Given the description of an element on the screen output the (x, y) to click on. 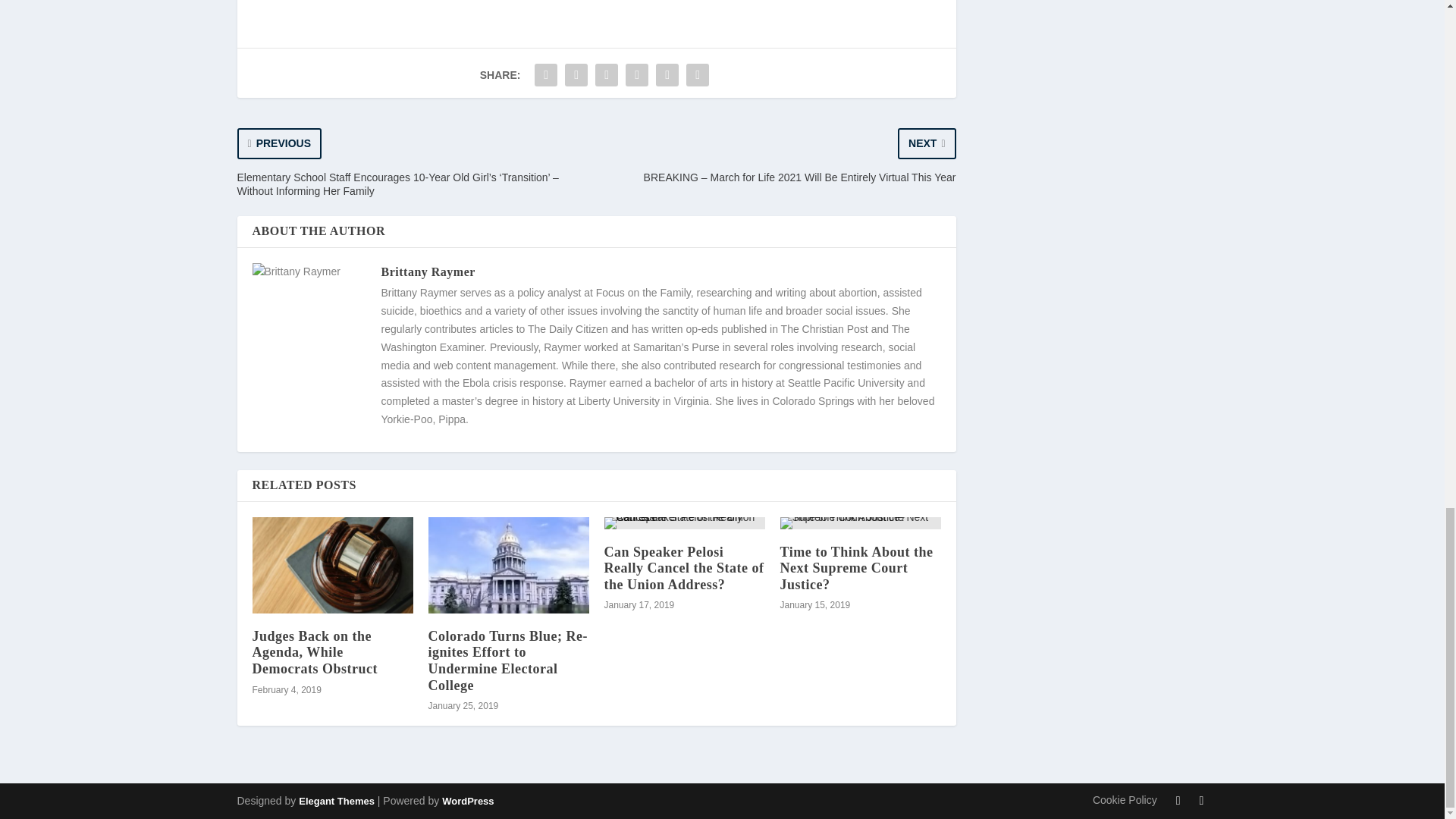
Time to Think About the Next Supreme Court Justice? (855, 568)
Judges Back on the Agenda, While Democrats Obstruct (331, 564)
Time to Think About the Next Supreme Court Justice? (859, 522)
Shutterstock (367, 0)
View all posts by Brittany Raymer (427, 271)
Brittany Raymer (427, 271)
Judges Back on the Agenda, While Democrats Obstruct (314, 652)
